Given the description of an element on the screen output the (x, y) to click on. 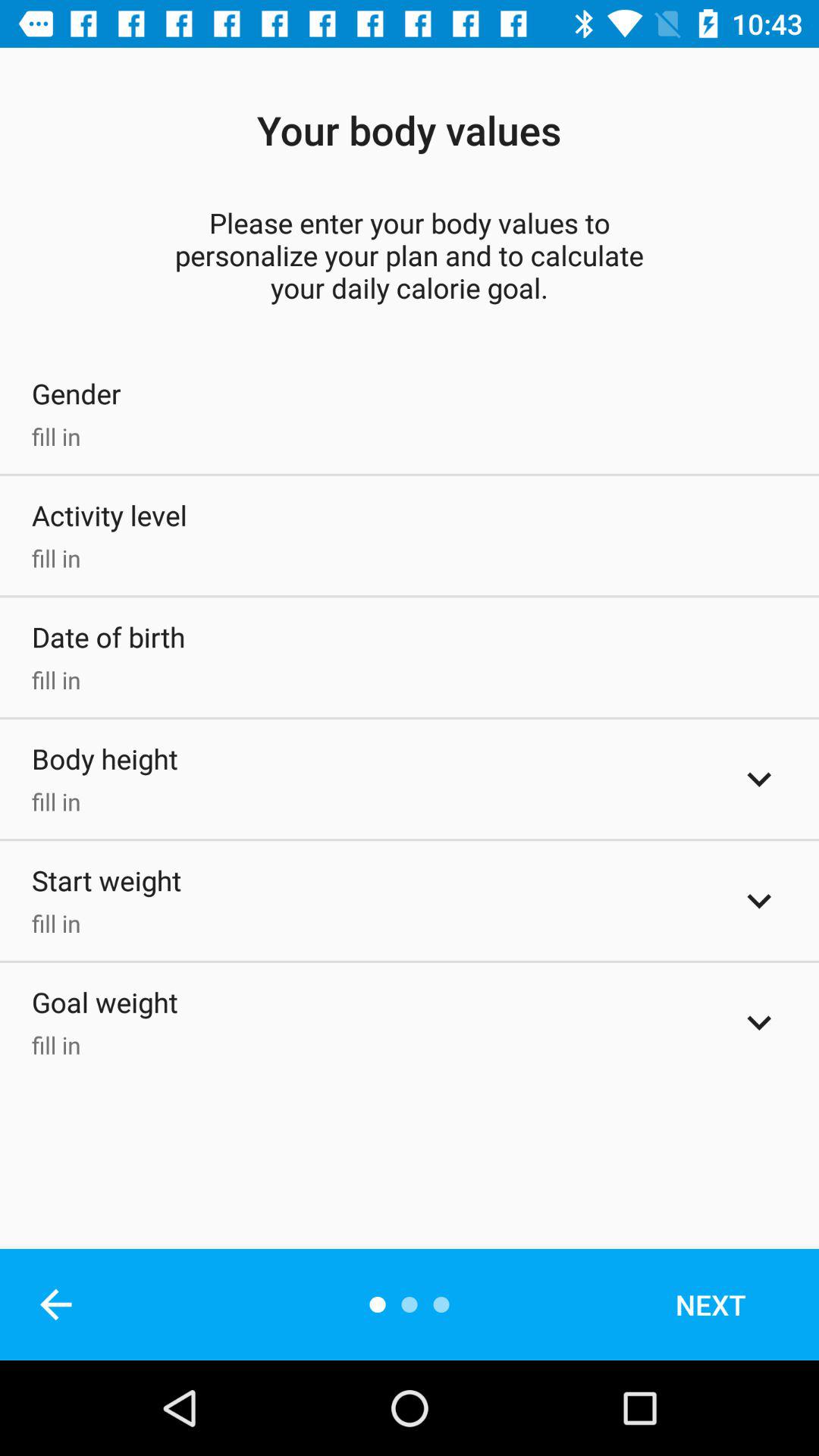
flip until next icon (731, 1304)
